Given the description of an element on the screen output the (x, y) to click on. 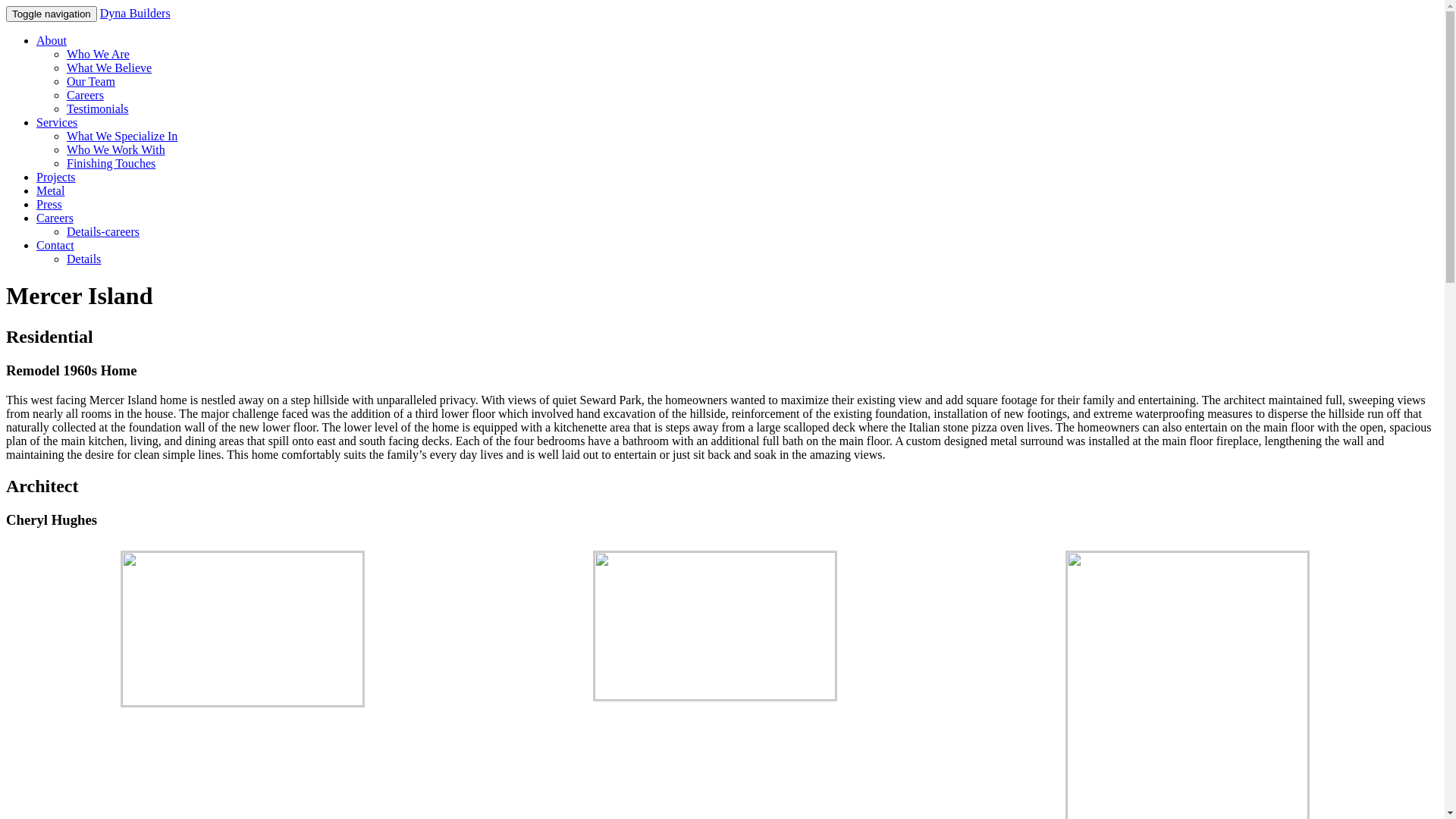
Finishing Touches Element type: text (110, 162)
Contact Element type: text (55, 244)
Our Team Element type: text (90, 81)
Testimonials Element type: text (97, 108)
Careers Element type: text (54, 217)
Metal Element type: text (50, 190)
What We Specialize In Element type: text (121, 135)
Dyna Builders Element type: text (135, 12)
Services Element type: text (56, 122)
Careers Element type: text (84, 94)
Press Element type: text (49, 203)
Projects Element type: text (55, 176)
Details Element type: text (83, 258)
Details-careers Element type: text (102, 231)
About Element type: text (51, 40)
Who We Are Element type: text (97, 53)
Toggle navigation Element type: text (51, 13)
What We Believe Element type: text (108, 67)
Who We Work With Element type: text (115, 149)
